Given the description of an element on the screen output the (x, y) to click on. 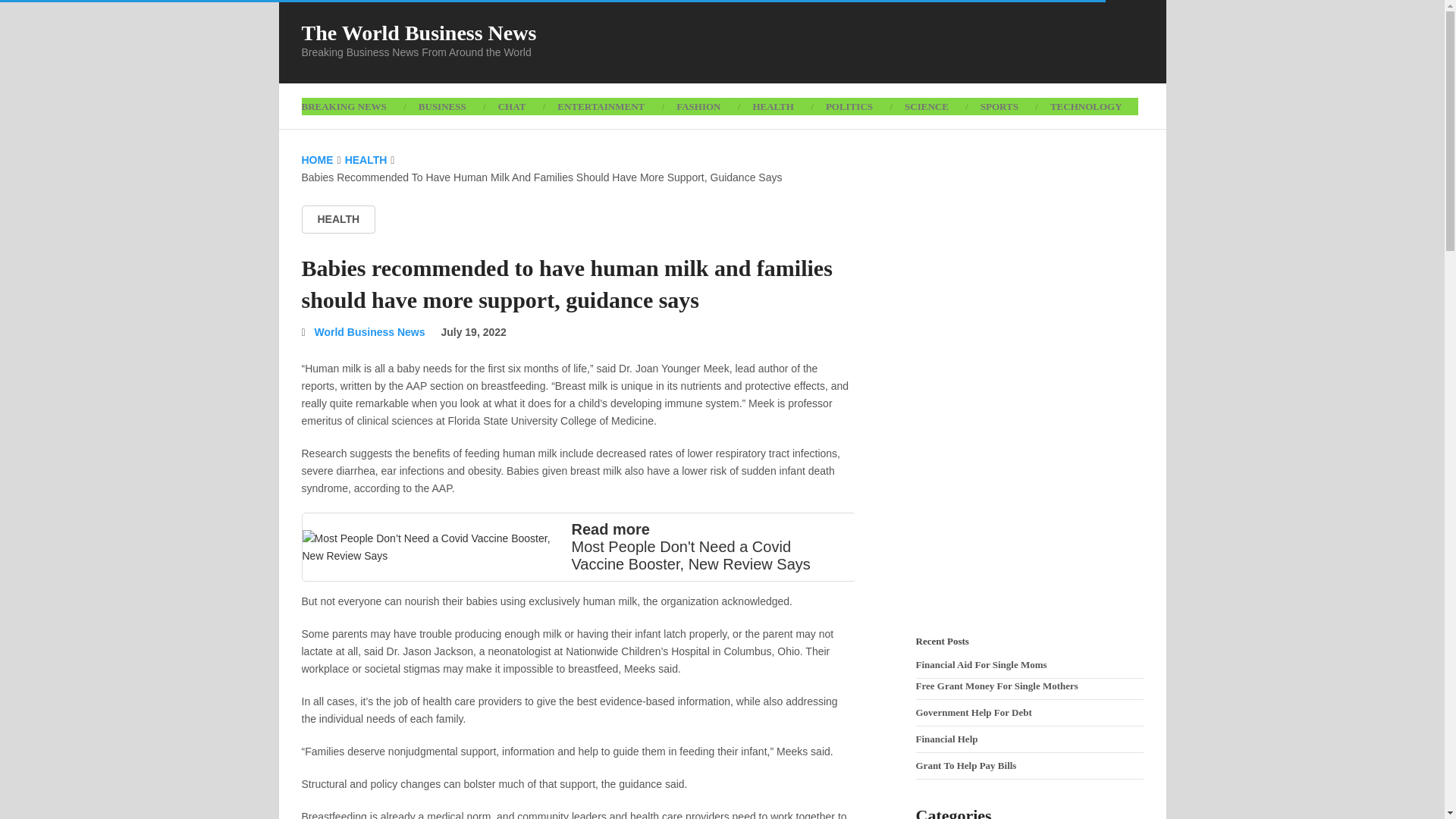
BUSINESS (442, 105)
SPORTS (998, 105)
ENTERTAINMENT (601, 105)
Posts by World Business News (369, 331)
The World Business News (419, 33)
Financial Help (946, 738)
SCIENCE (925, 105)
Financial Aid For Single Moms (980, 664)
HEALTH (366, 159)
FASHION (698, 105)
Grant To Help Pay Bills (965, 765)
World Business News (369, 331)
TECHNOLOGY (1085, 105)
HEALTH (772, 105)
